Given the description of an element on the screen output the (x, y) to click on. 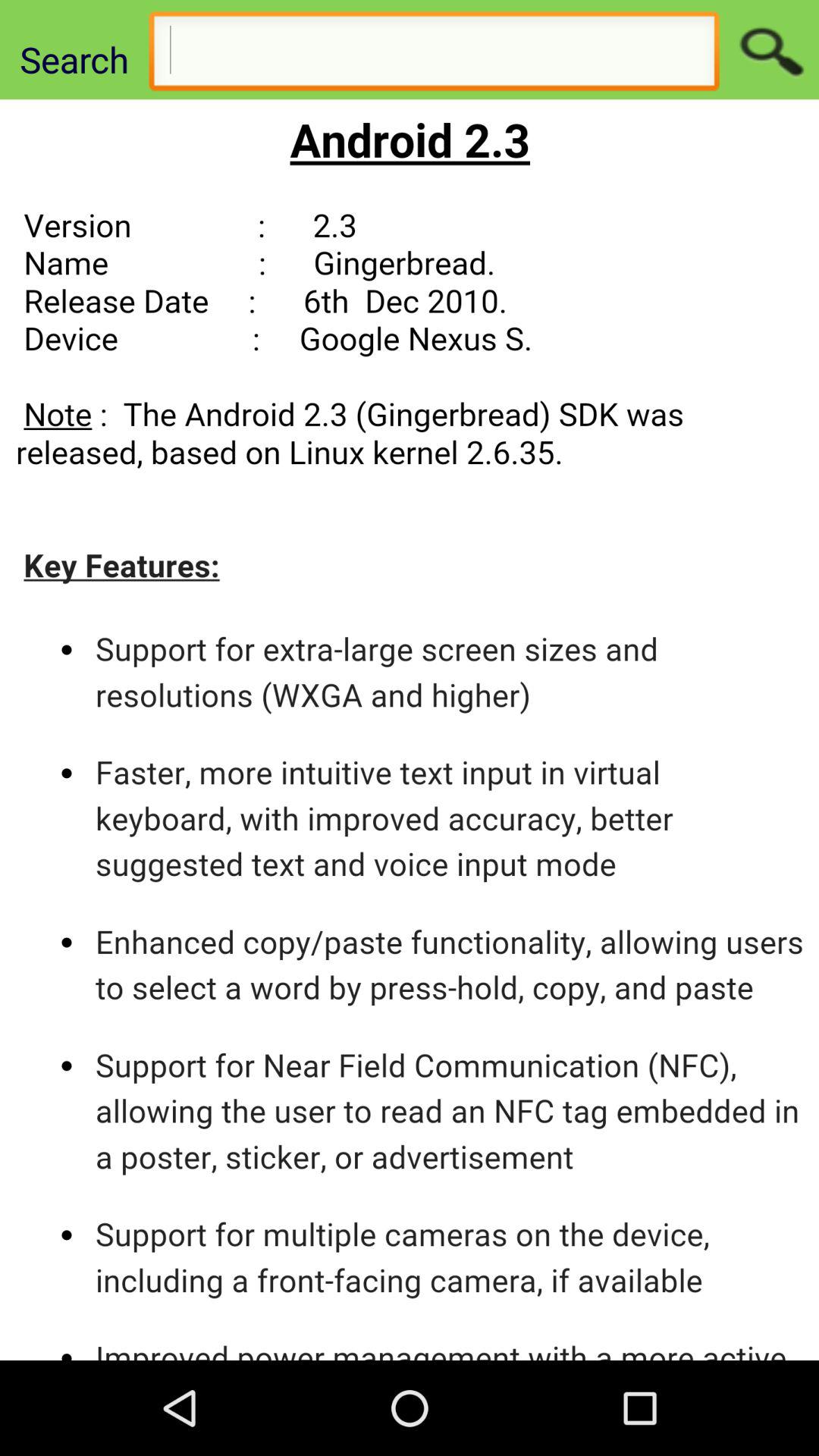
search page (434, 54)
